Given the description of an element on the screen output the (x, y) to click on. 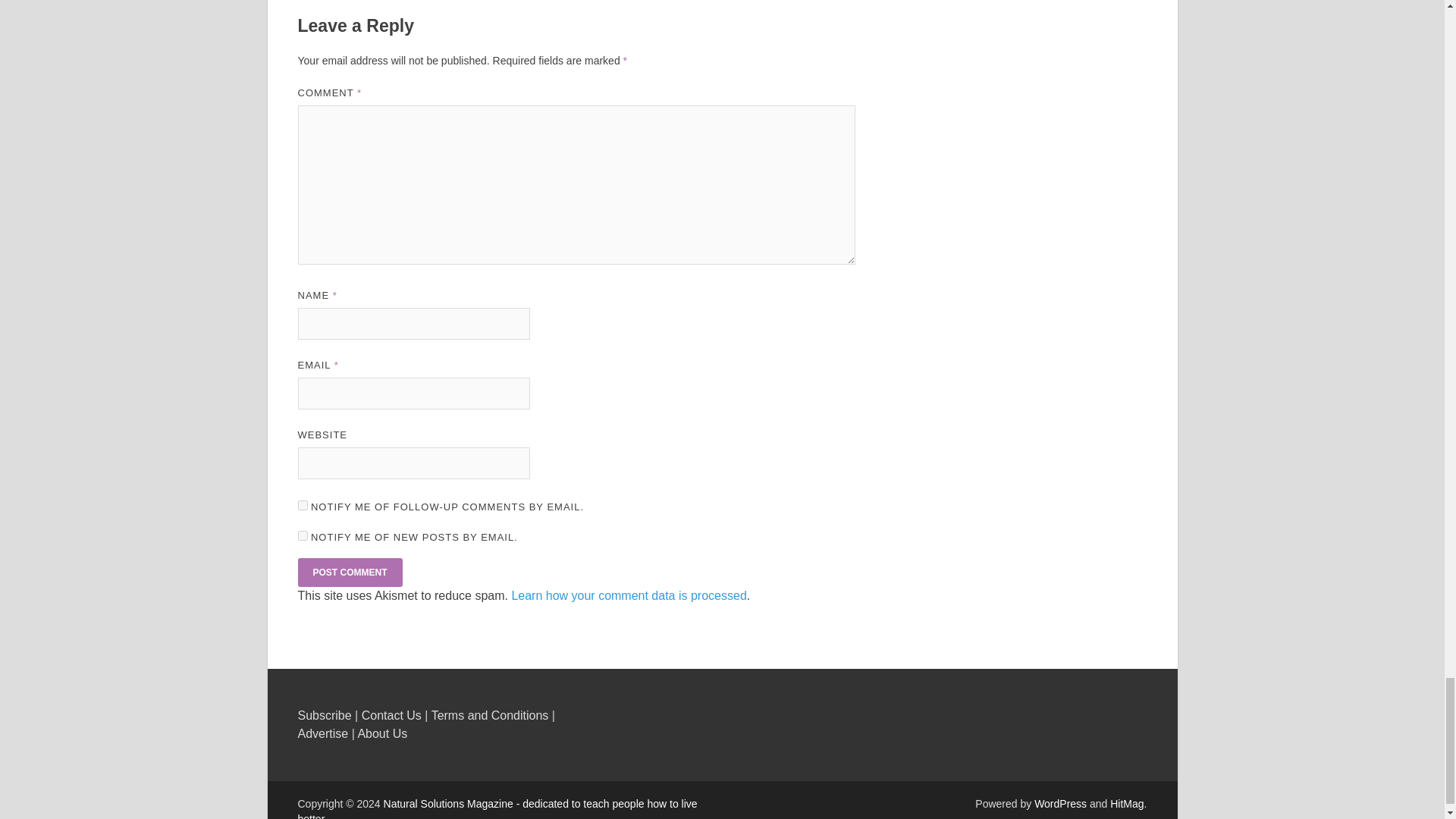
subscribe (302, 505)
subscribe (302, 535)
WordPress (1059, 803)
Post Comment (349, 572)
HitMag WordPress Theme (1125, 803)
